Given the description of an element on the screen output the (x, y) to click on. 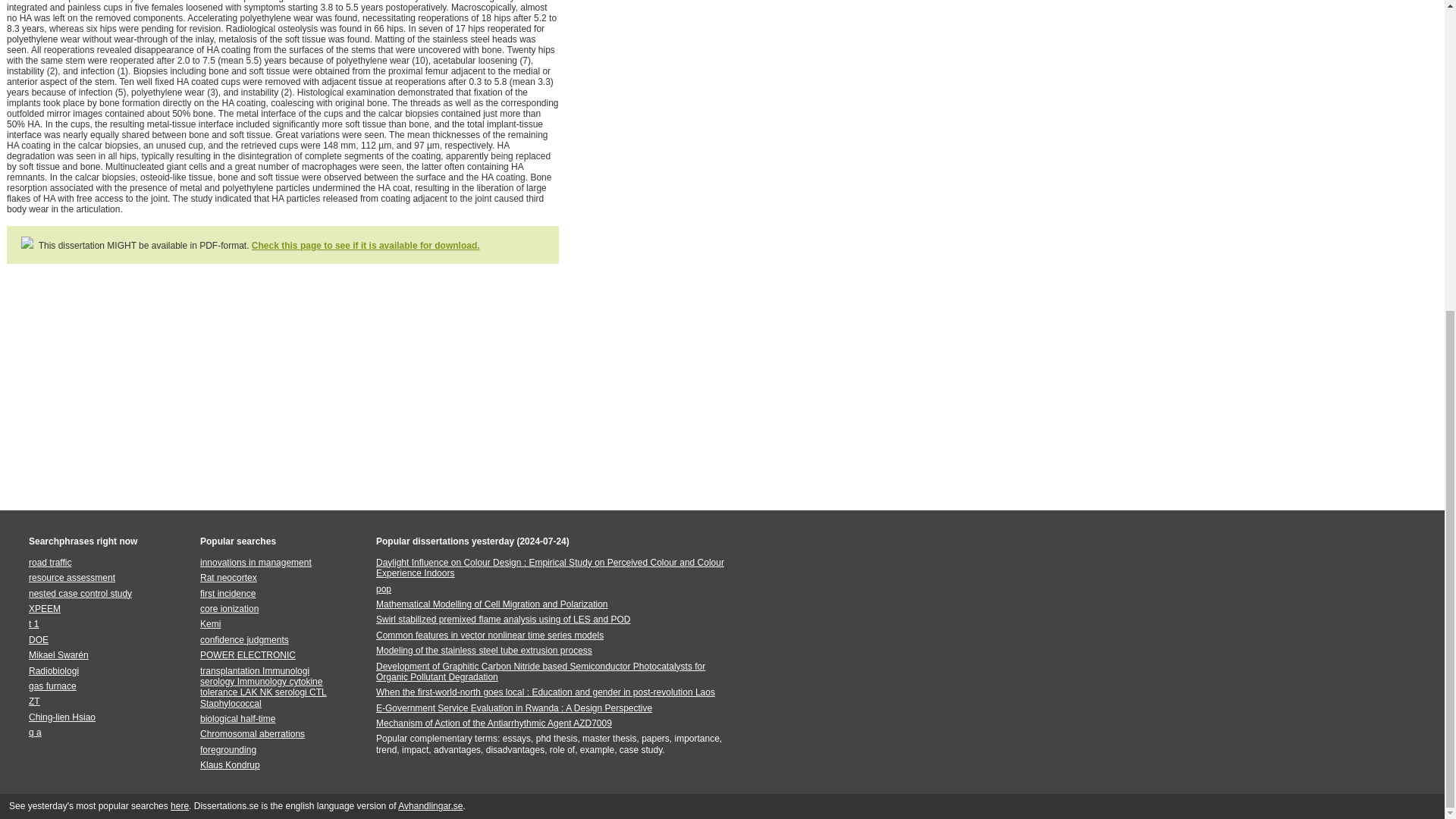
XPEEM (45, 608)
Kemi (210, 624)
gas furnace (53, 685)
Radiobiologi (53, 670)
resource assessment (72, 577)
ZT (34, 701)
DOE (38, 639)
t 1 (34, 624)
innovations in management (255, 562)
Rat neocortex (228, 577)
q a (35, 732)
nested case control study (80, 593)
Ching-lien Hsiao (62, 716)
road traffic (50, 562)
Check this page to see if it is available for download. (365, 245)
